Given the description of an element on the screen output the (x, y) to click on. 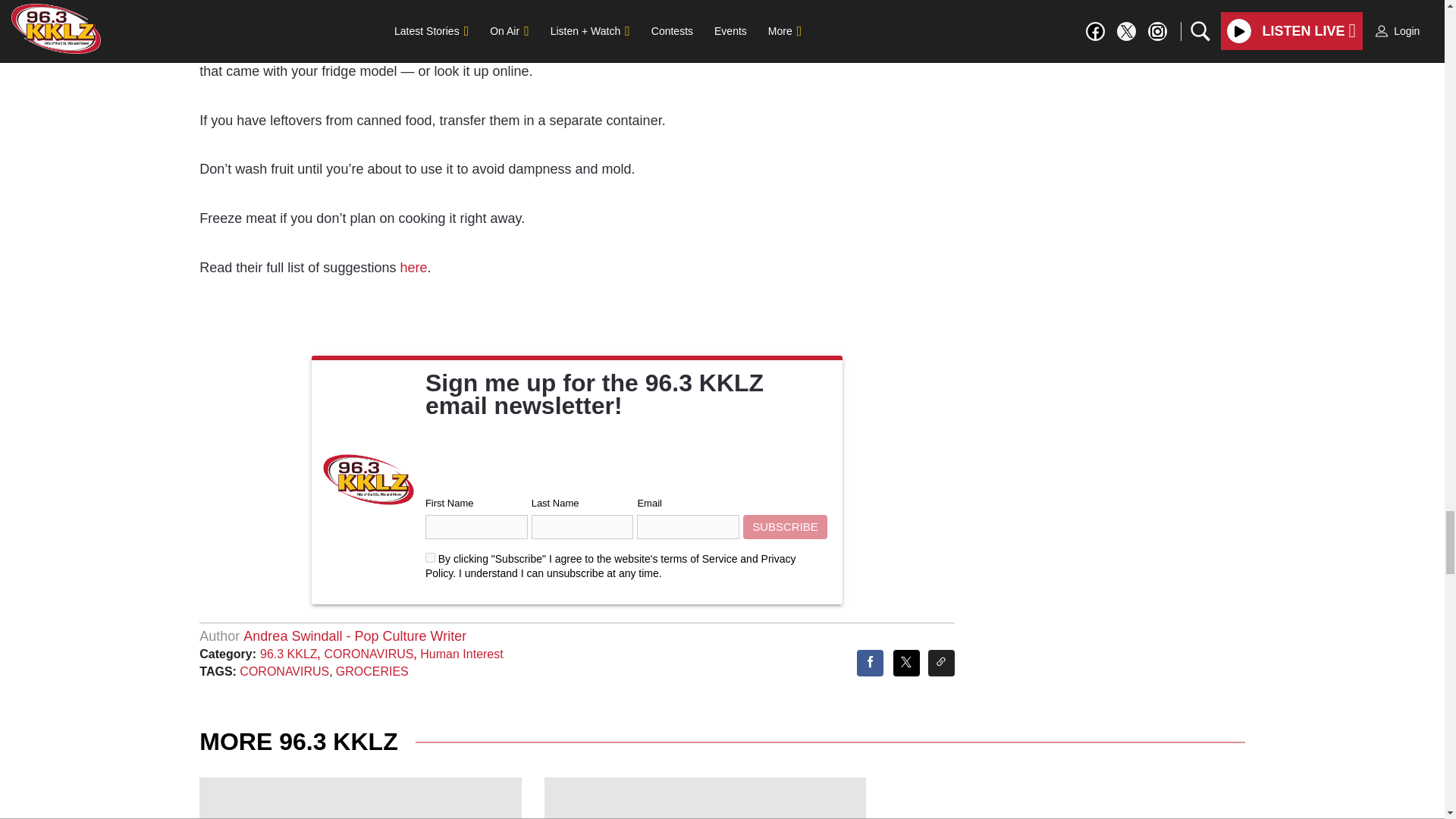
Andrea Swindall - Pop Culture Writer (354, 635)
on (430, 557)
